Given the description of an element on the screen output the (x, y) to click on. 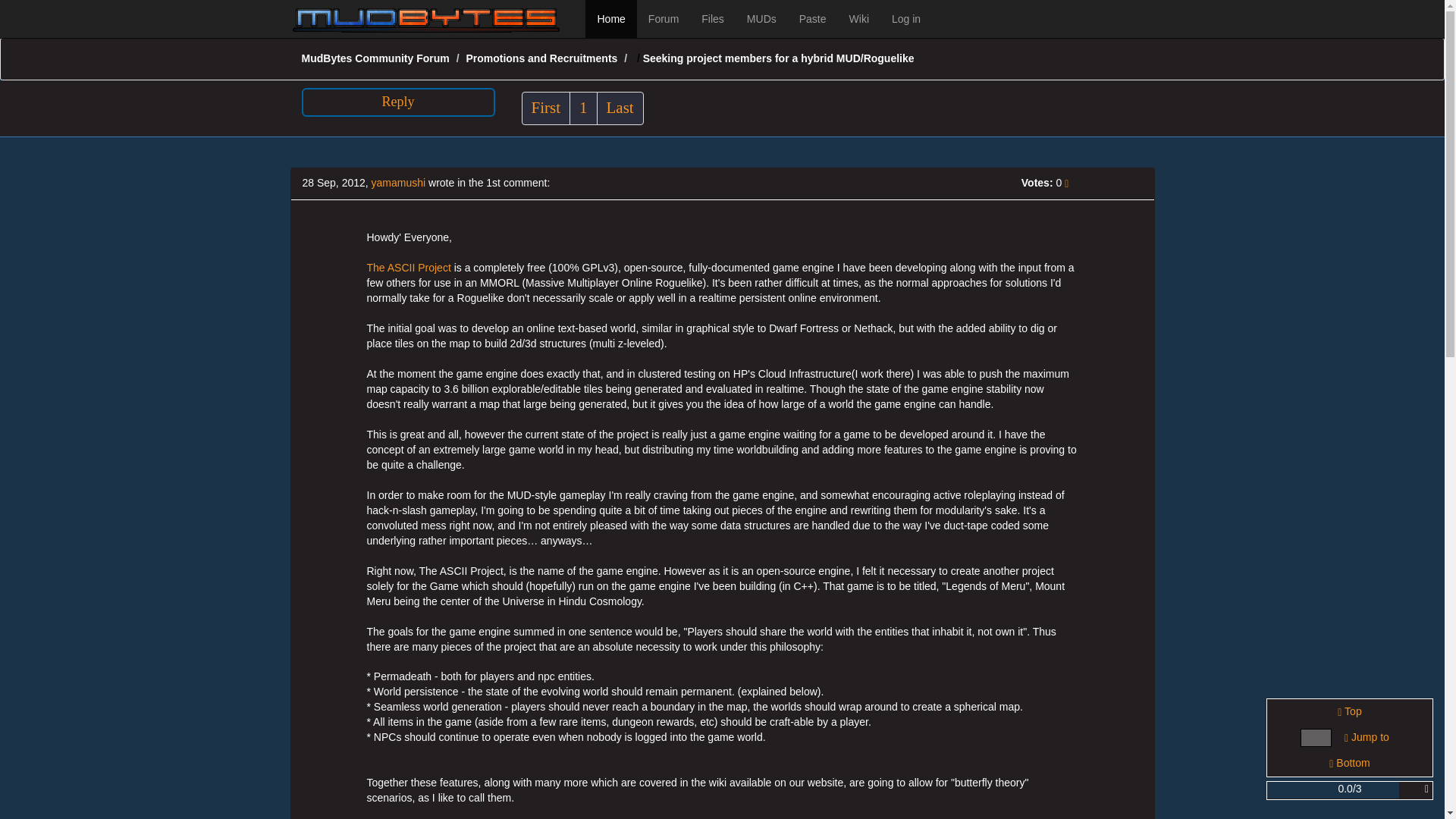
yamamushi (398, 182)
MudBytes Community Forum (375, 58)
Last (619, 108)
The ASCII Project (408, 267)
Home (610, 18)
Wiki (859, 18)
Promotions and Recruitments (541, 58)
Log in (905, 18)
Forum (663, 18)
Files (712, 18)
